Given the description of an element on the screen output the (x, y) to click on. 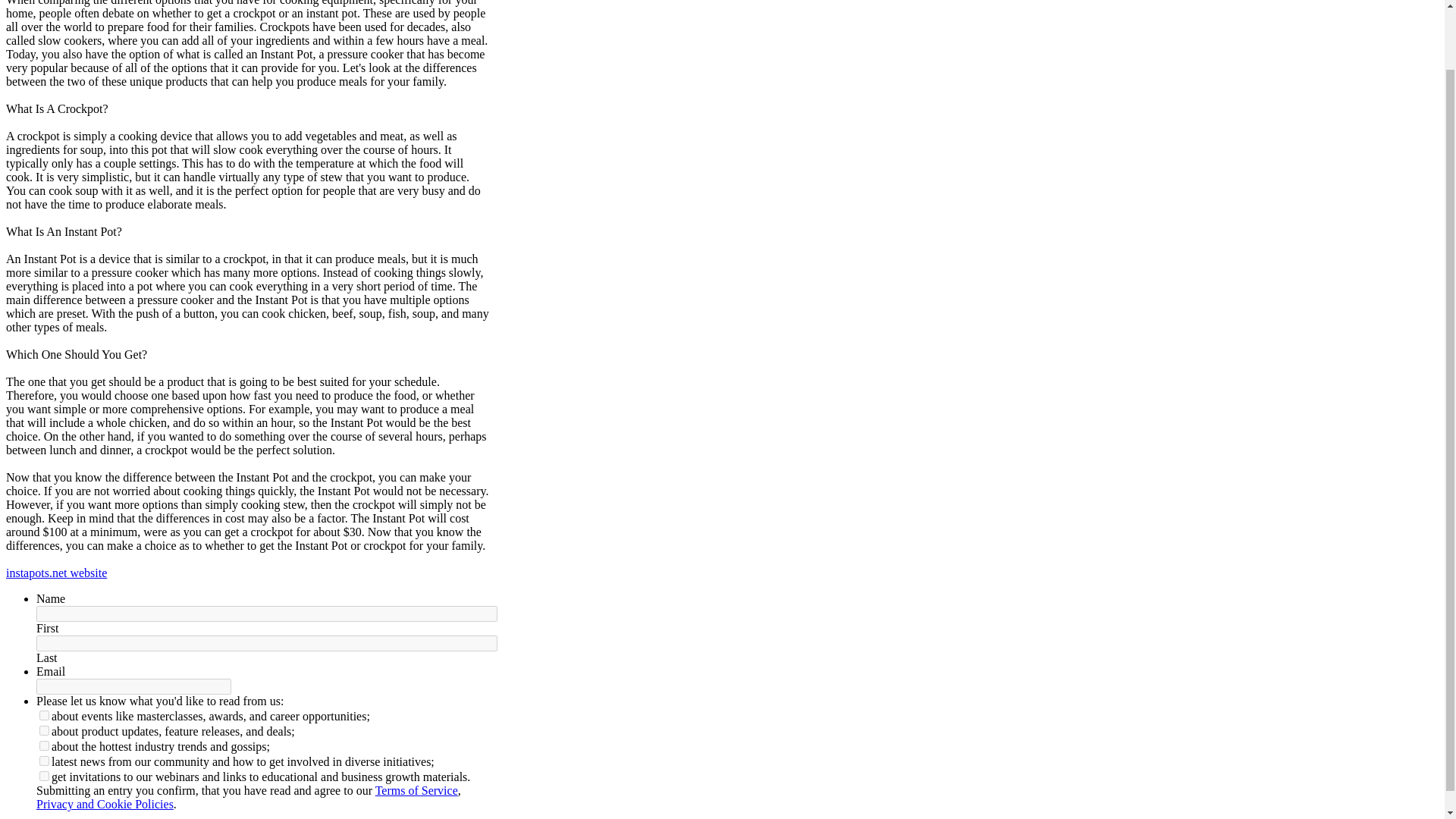
about the hottest industry trends and gossips; (44, 746)
instapots.net website (55, 572)
about product updates, feature releases, and deals; (44, 730)
Privacy and Cookie Policies (104, 803)
Terms of Service (416, 789)
